Given the description of an element on the screen output the (x, y) to click on. 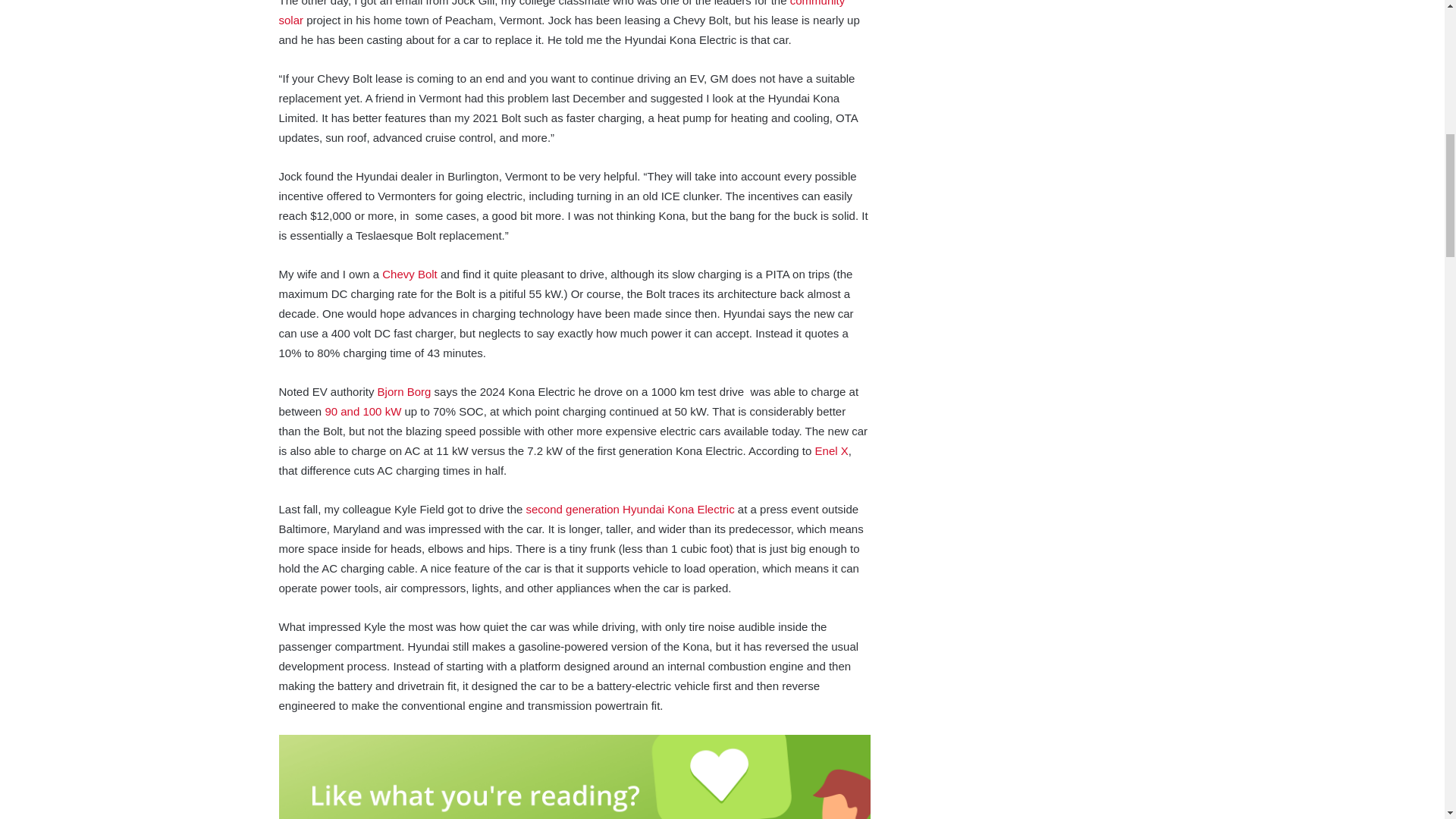
90 and 100 kW (362, 410)
second generation Hyundai Kona Electric (630, 508)
community solar (562, 13)
Enel X (831, 450)
Chevy Bolt (409, 273)
Bjorn Borg (403, 391)
